Given the description of an element on the screen output the (x, y) to click on. 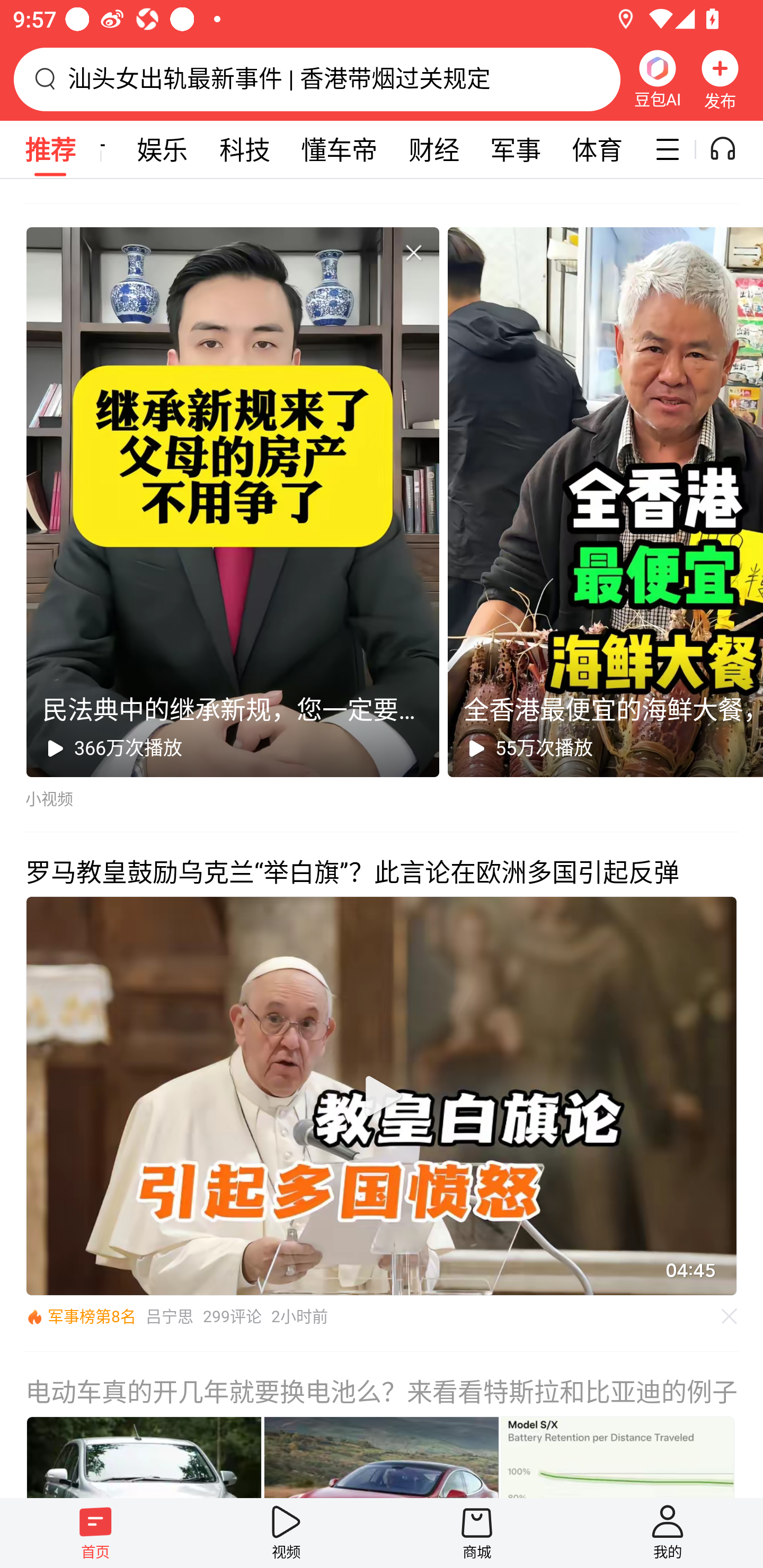
汕头女出轨最新事件 | 香港带烟过关规定 搜索框，汕头女出轨最新事件 | 香港带烟过关规定 (316, 79)
豆包AI AI回答，按钮 (657, 78)
发布 发布，按钮 (720, 78)
推荐 (49, 149)
娱乐 (162, 149)
科技 (244, 149)
懂车帝 (339, 149)
财经 (433, 149)
军事 (515, 149)
体育 (596, 149)
听一听开关 (732, 149)
不感兴趣 (413, 251)
播放视频 视频播放器，双击屏幕打开播放控制 (381, 1095)
播放视频 (381, 1095)
不感兴趣 (729, 1315)
首页 (95, 1532)
视频 (285, 1532)
商城 (476, 1532)
我的 (667, 1532)
